Given the description of an element on the screen output the (x, y) to click on. 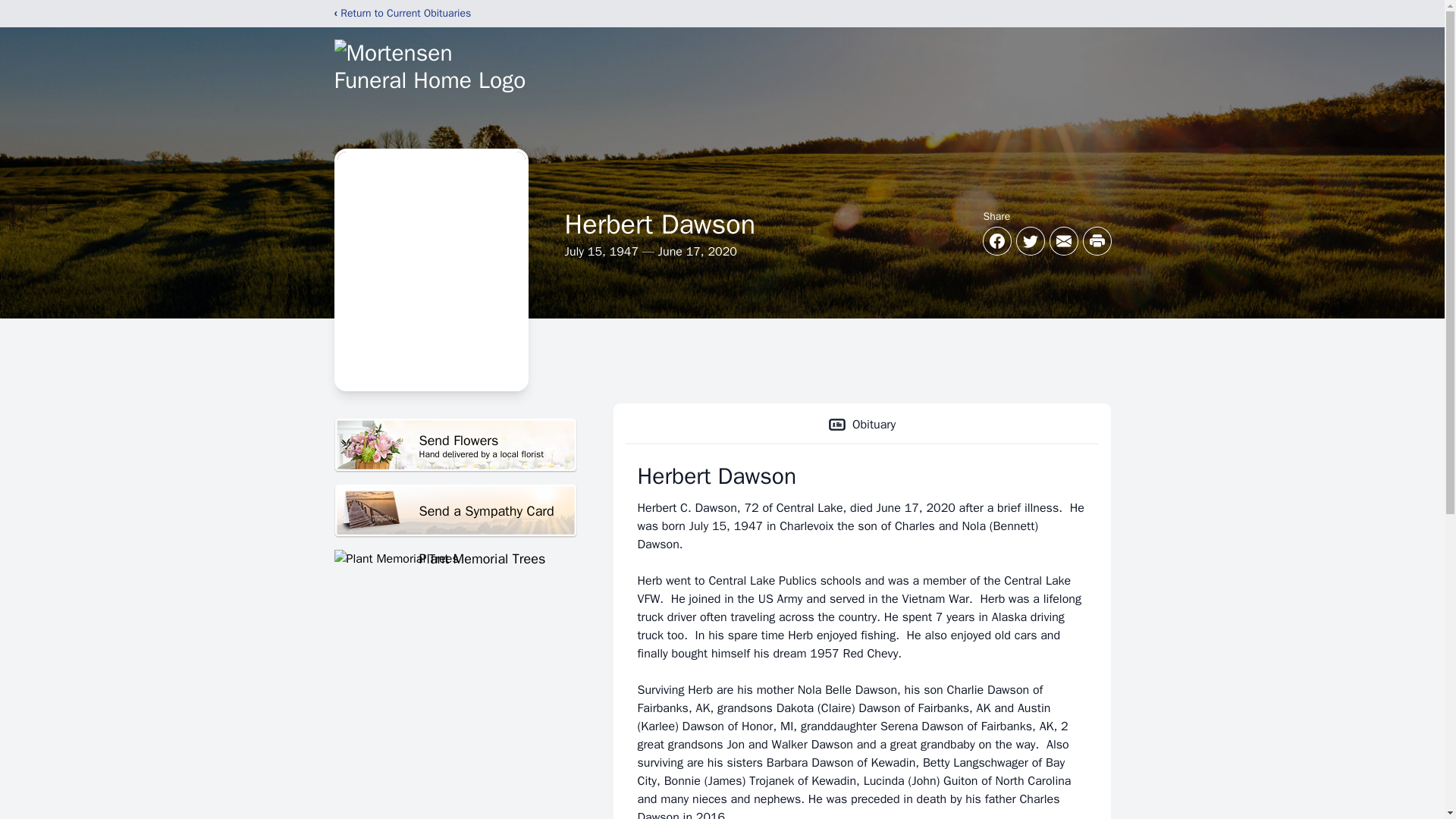
Send a Sympathy Card (454, 511)
Obituary (860, 425)
Plant Memorial Trees (454, 445)
